Given the description of an element on the screen output the (x, y) to click on. 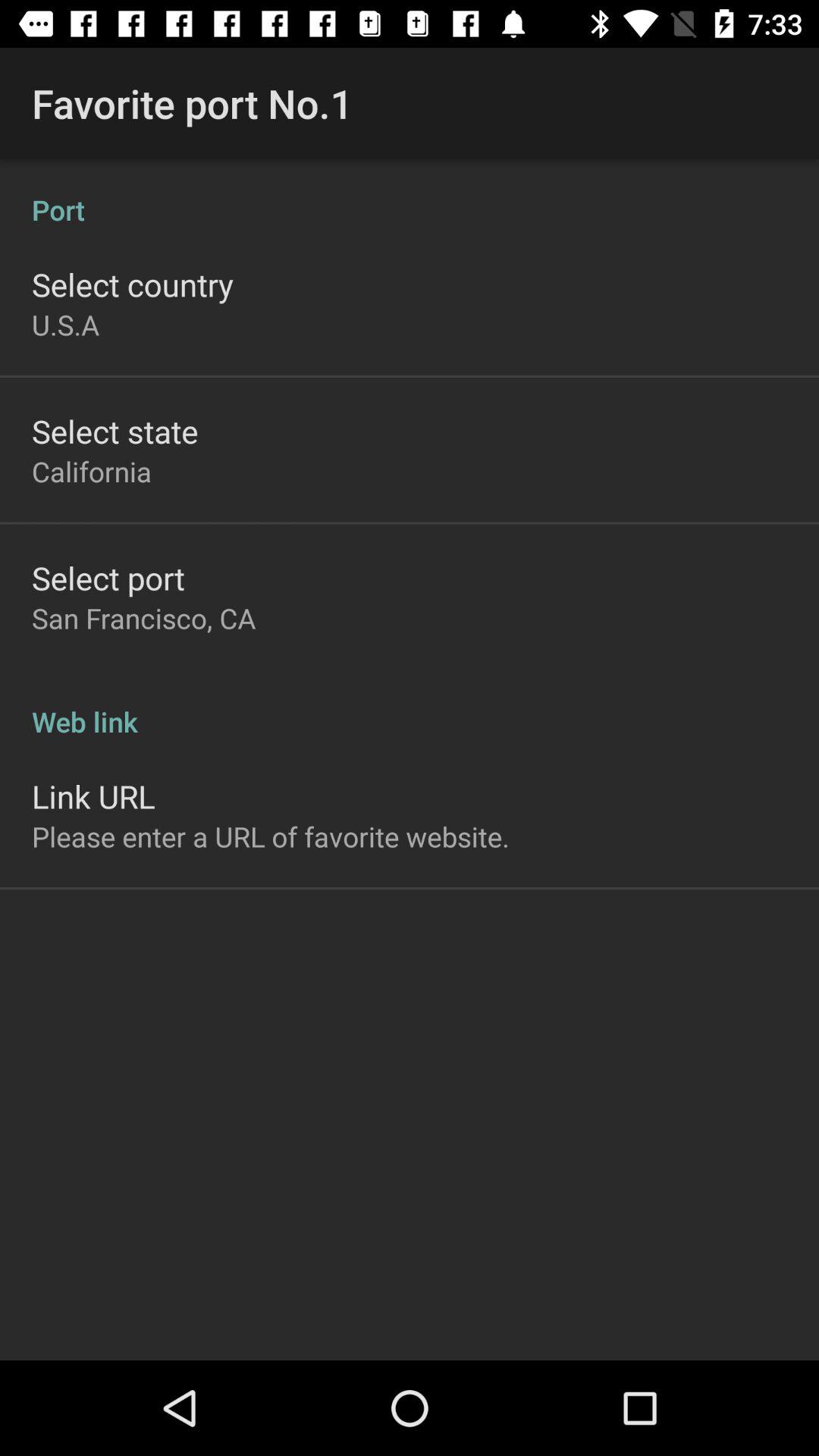
press app above u.s.a item (132, 283)
